Given the description of an element on the screen output the (x, y) to click on. 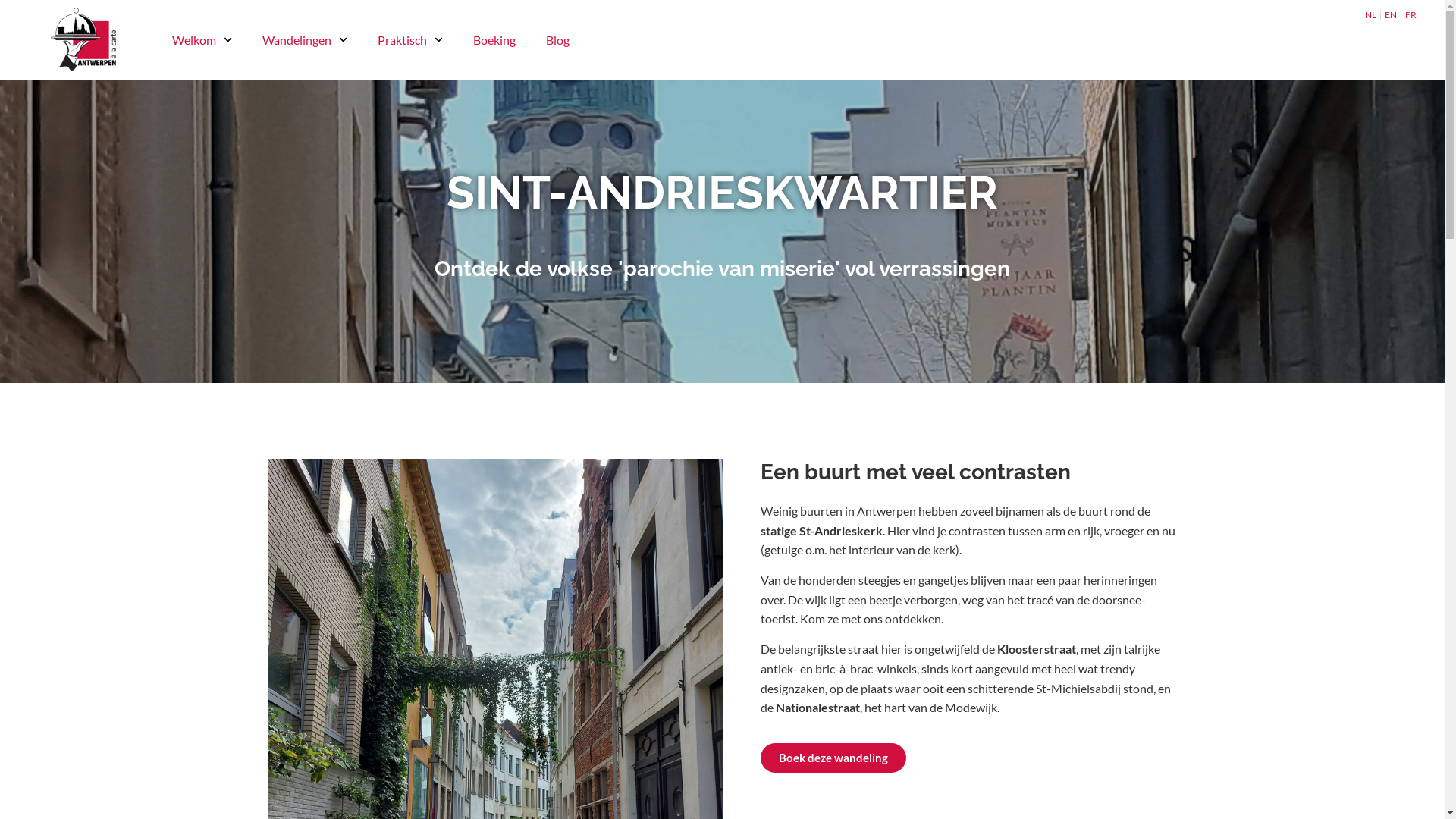
Praktisch Element type: text (410, 39)
EN Element type: text (1390, 14)
Wandelingen Element type: text (304, 39)
Blog Element type: text (557, 39)
Boeking Element type: text (494, 39)
Welkom Element type: text (201, 39)
FR Element type: text (1410, 14)
Boek deze wandeling Element type: text (832, 757)
NL Element type: text (1370, 14)
